Given the description of an element on the screen output the (x, y) to click on. 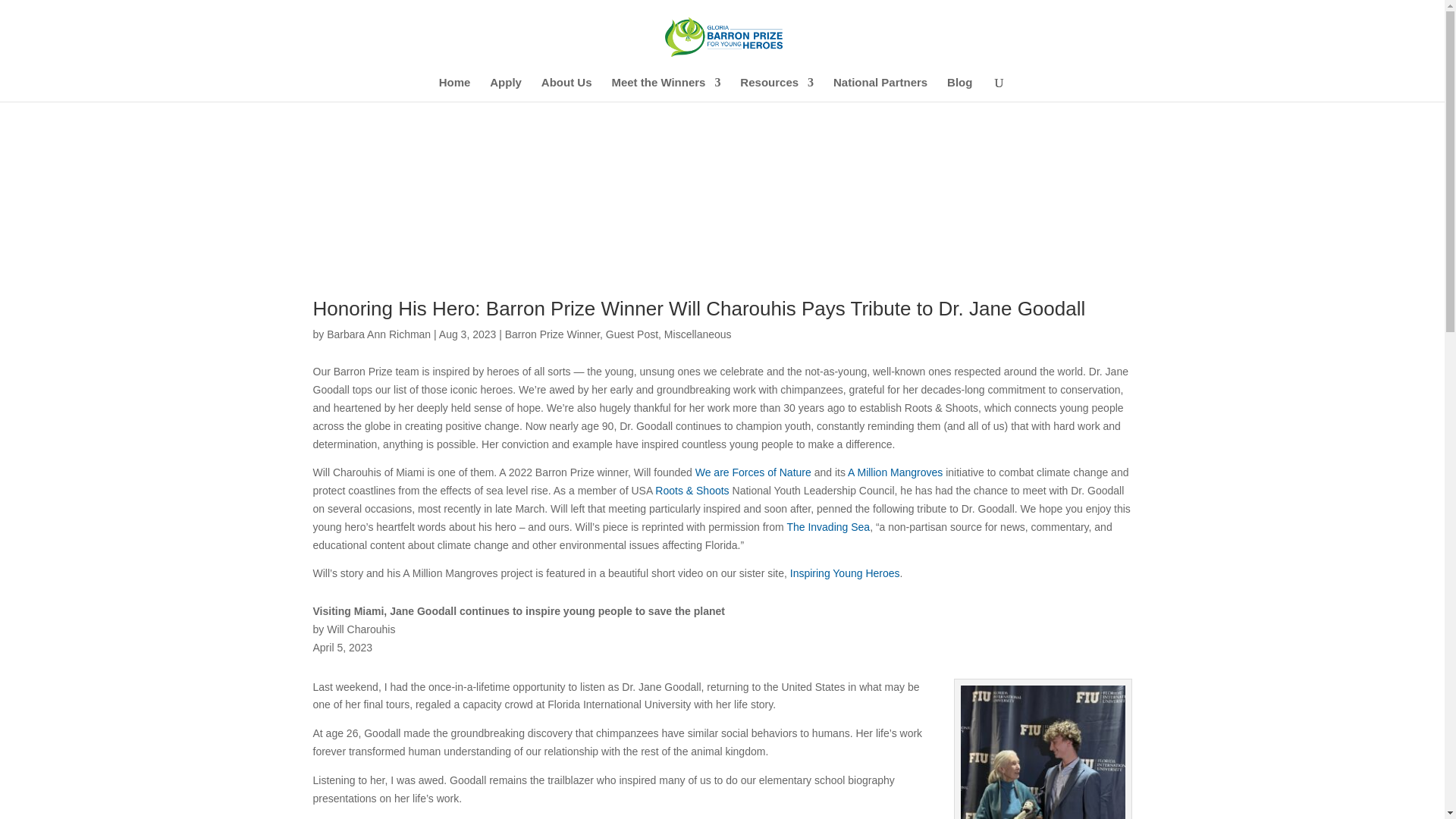
Posts by Barbara Ann Richman (378, 334)
Barron Prize Winner (552, 334)
Apply (505, 88)
About Us (566, 88)
Blog (959, 88)
Meet the Winners (665, 88)
We are Forces of Nature (752, 472)
Guest Post (631, 334)
A Million Mangroves (894, 472)
Resources (776, 88)
